Given the description of an element on the screen output the (x, y) to click on. 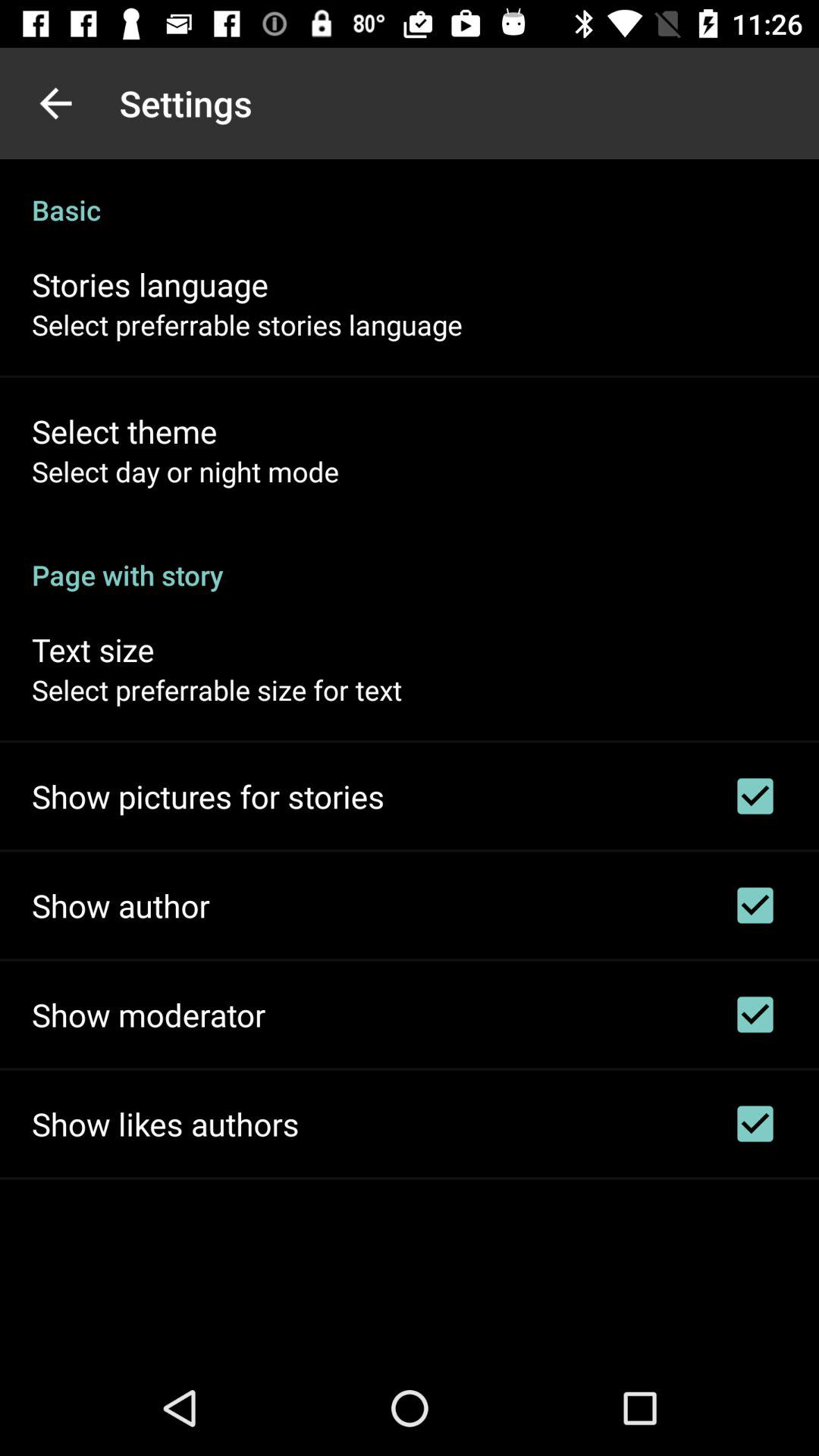
turn on the icon above the text size (409, 558)
